Given the description of an element on the screen output the (x, y) to click on. 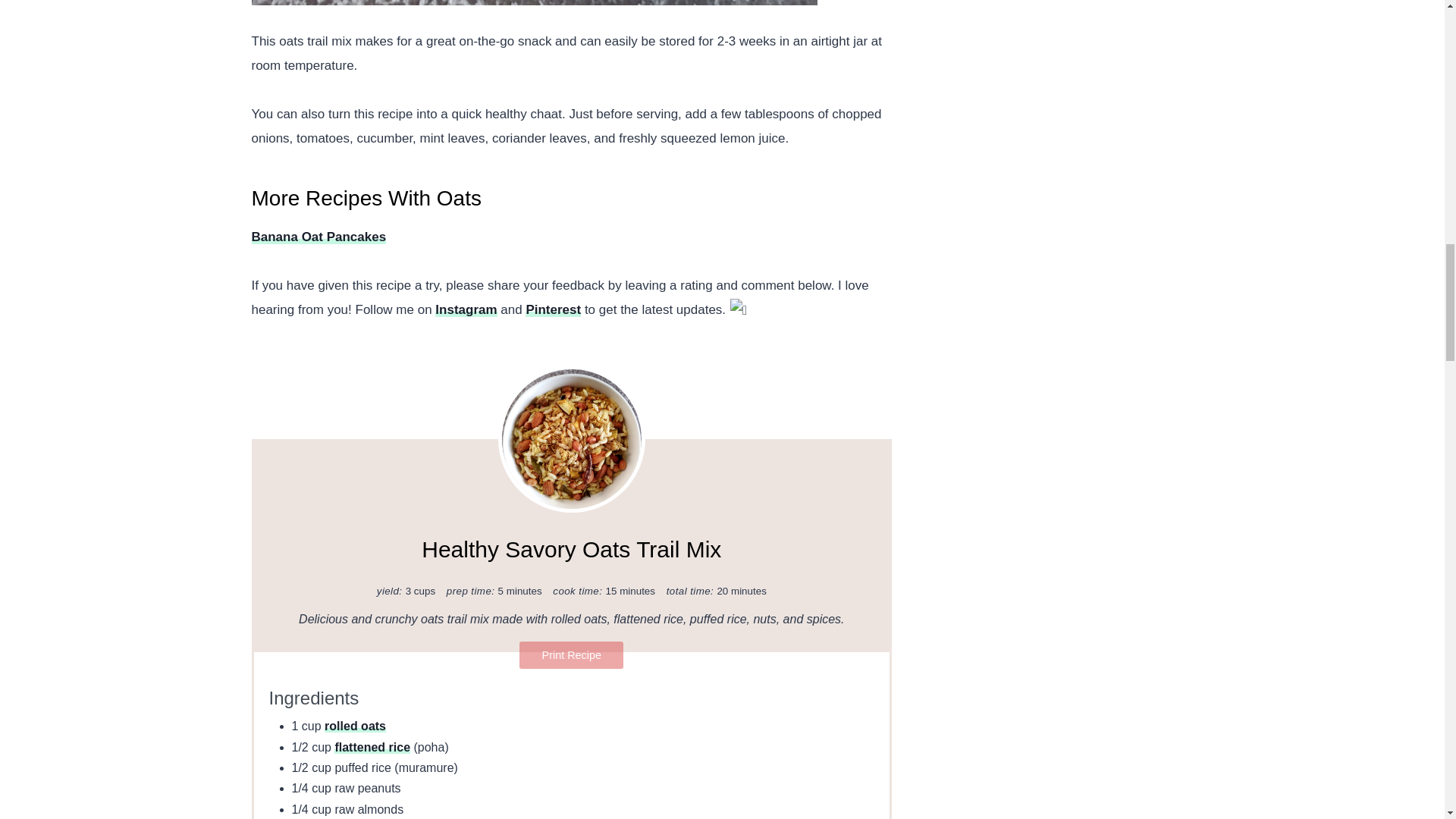
Banana Oat Pancakes (319, 237)
Pinterest (552, 309)
Instagram (465, 309)
